Given the description of an element on the screen output the (x, y) to click on. 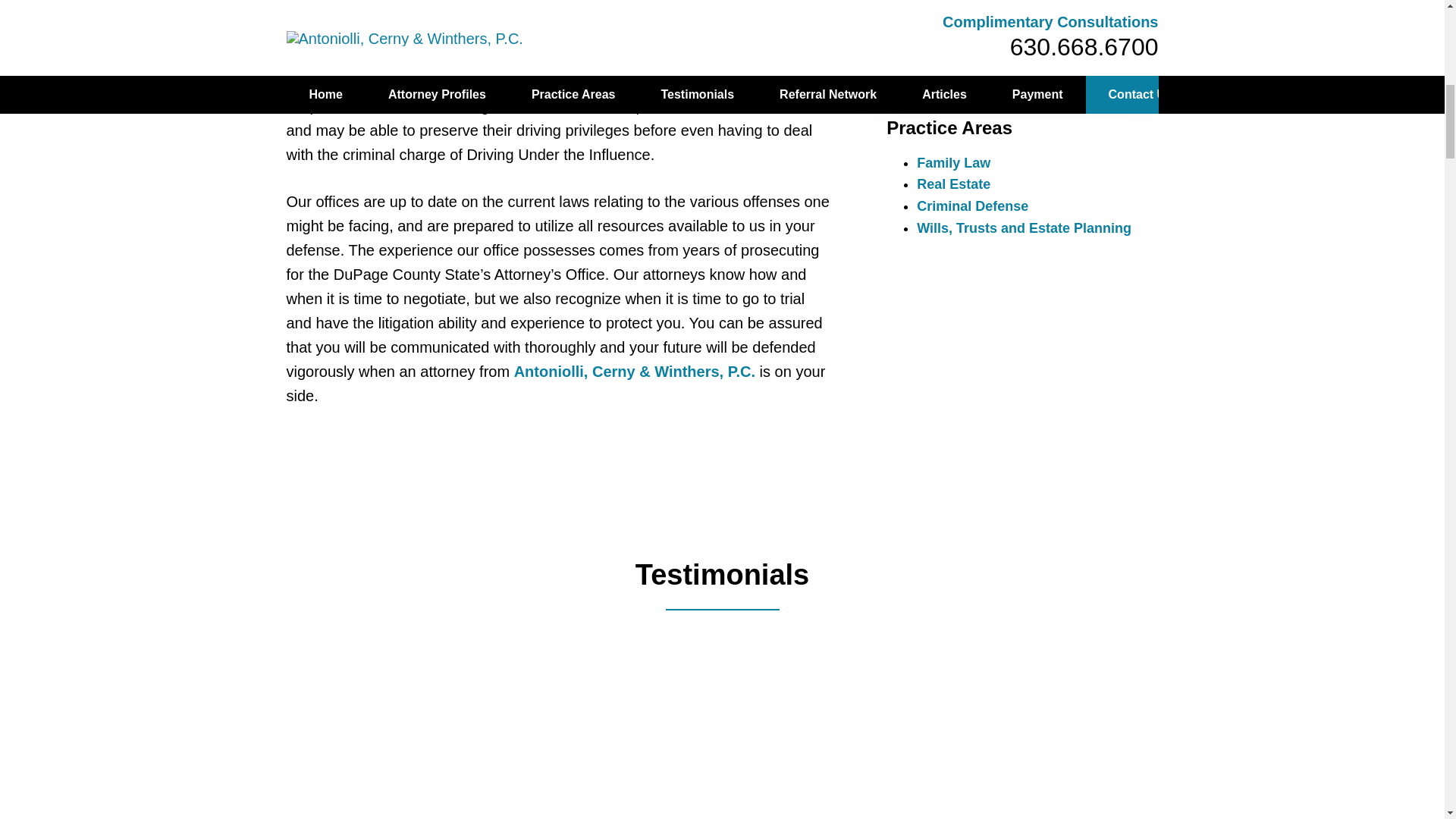
Criminal Defense (972, 206)
Family Law (953, 162)
Contact Us Now (1012, 52)
Real Estate (953, 183)
Wills, Trusts and Estate Planning (1024, 227)
